Given the description of an element on the screen output the (x, y) to click on. 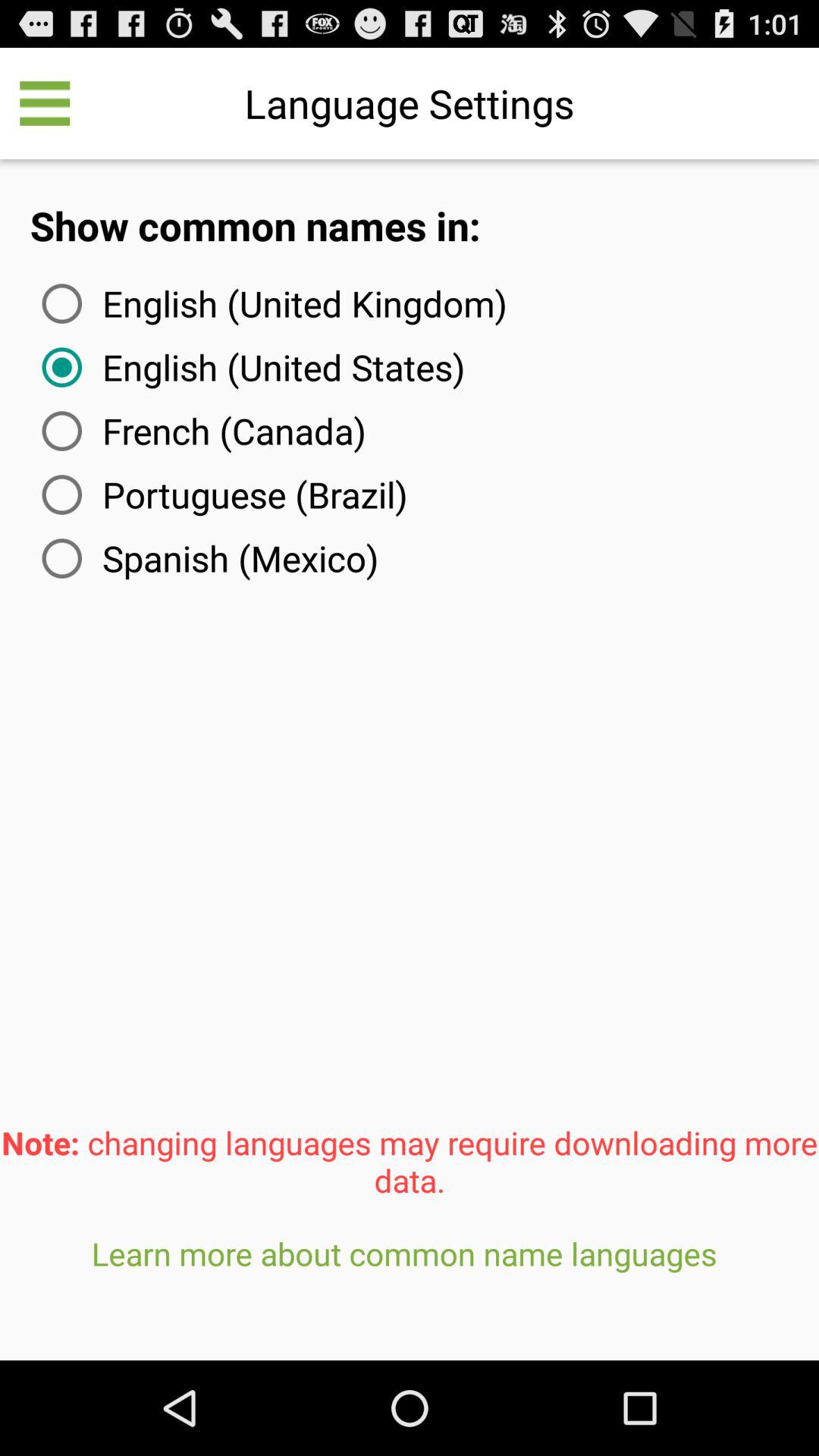
click portuguese (brazil) icon (221, 494)
